Given the description of an element on the screen output the (x, y) to click on. 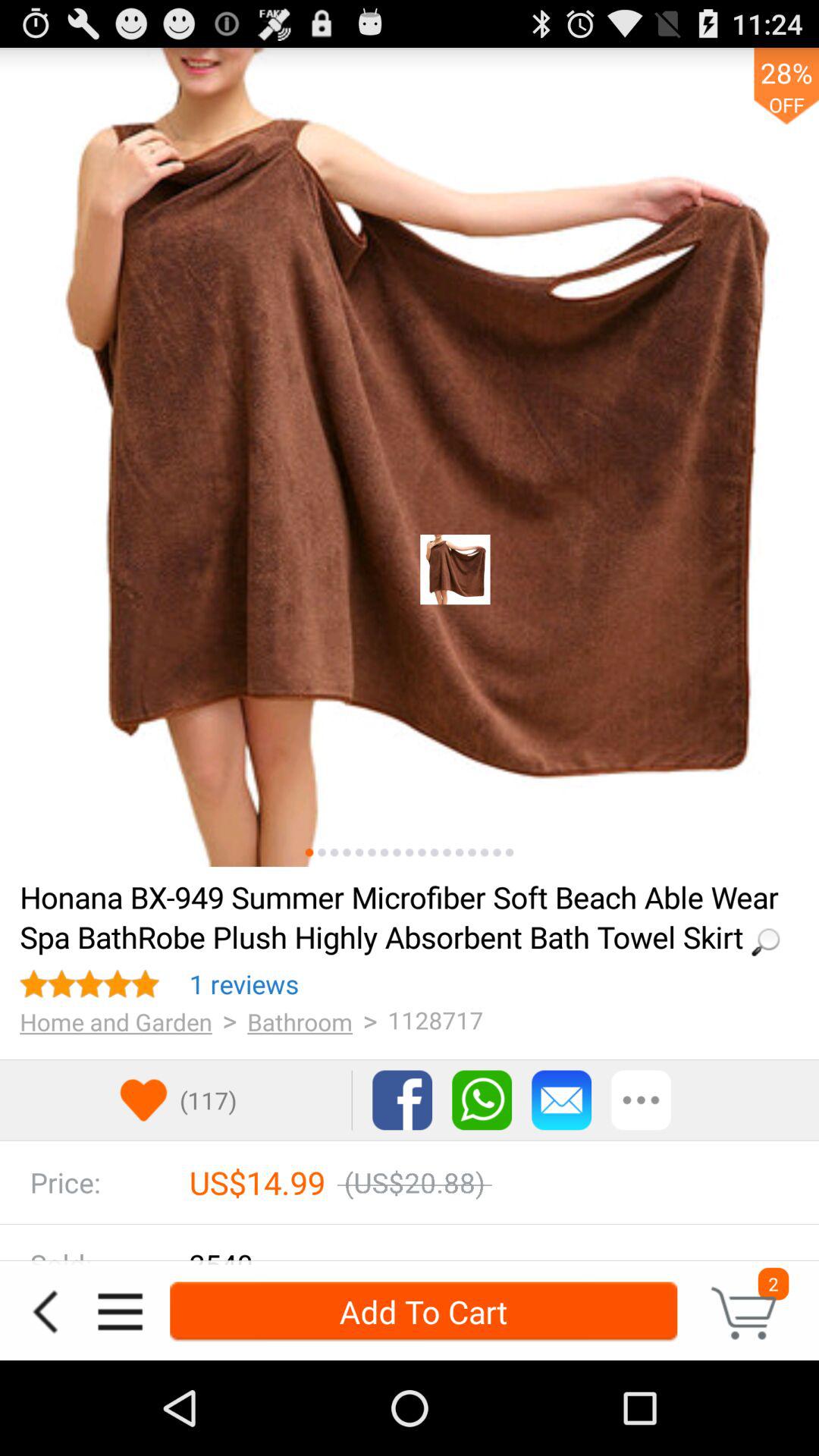
go back to the previous page (45, 1311)
